Given the description of an element on the screen output the (x, y) to click on. 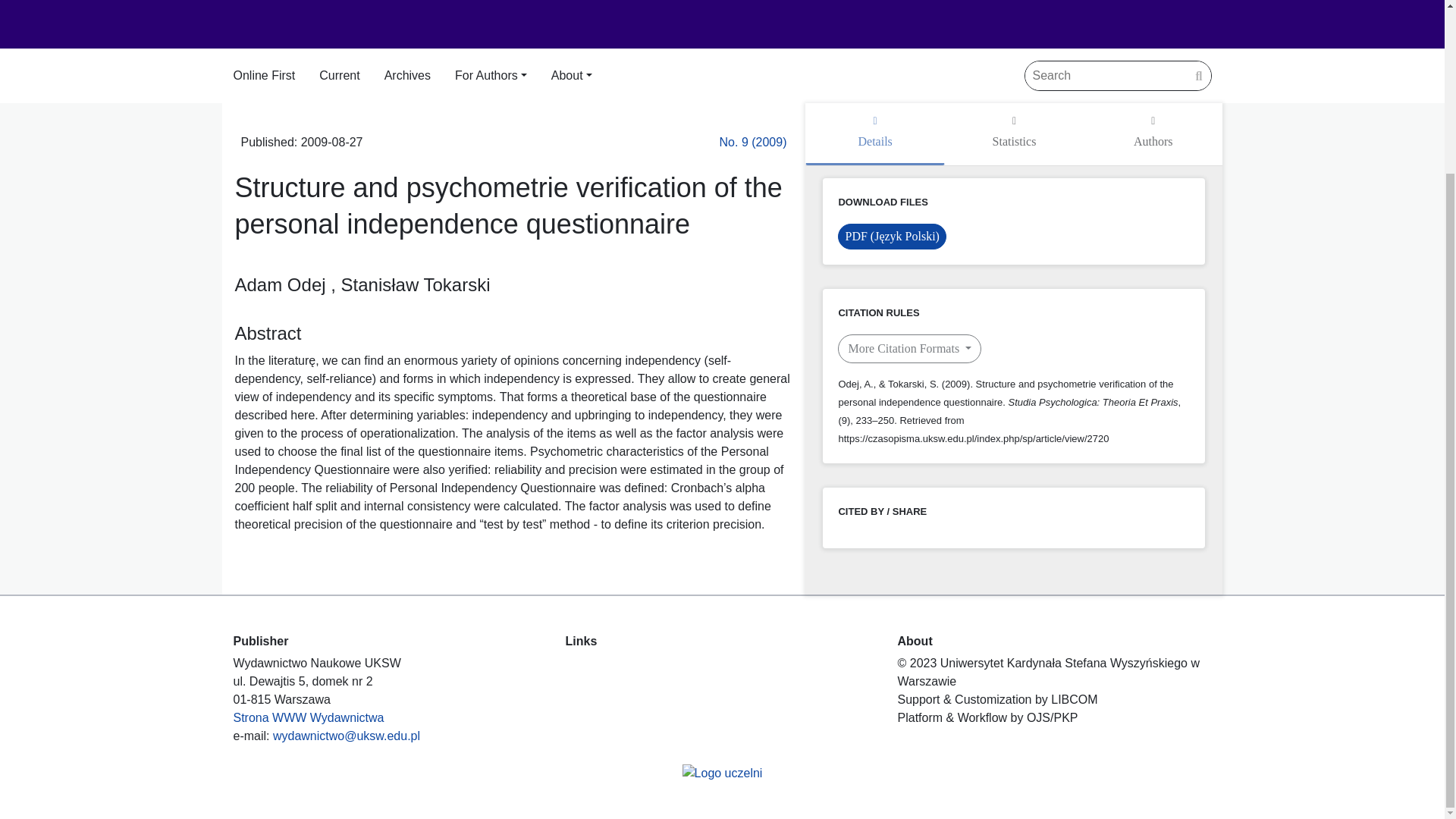
Online First (263, 75)
Details (874, 134)
Archives (407, 75)
For Authors (490, 75)
Statistics (1013, 134)
Current (338, 75)
Authors (1153, 134)
About (571, 75)
More Citation Formats (909, 348)
Search (1198, 76)
